Given the description of an element on the screen output the (x, y) to click on. 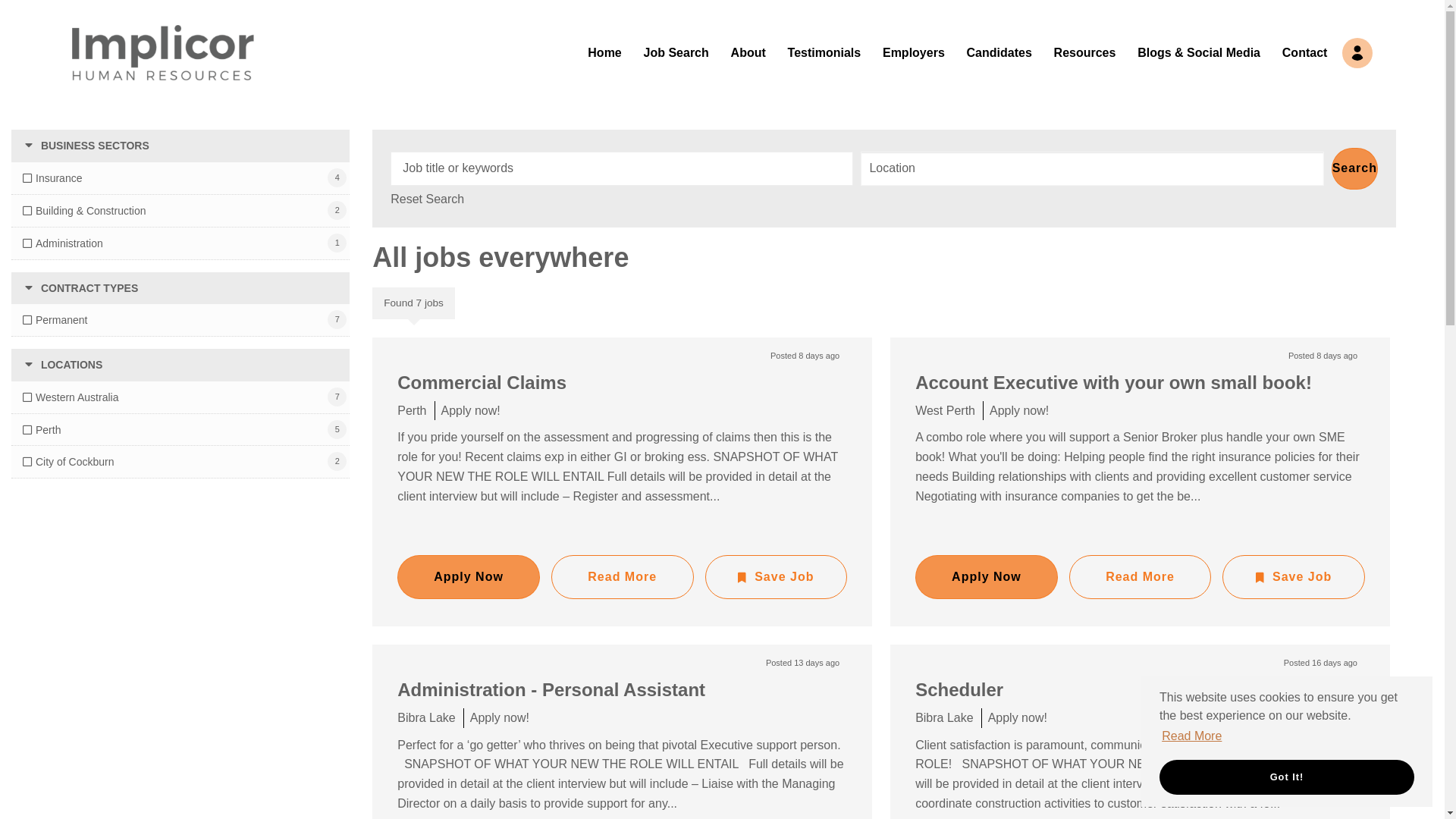
Testimonials Element type: text (824, 52)
Read More Element type: text (1191, 735)
Read More Element type: text (1140, 577)
Administration - Personal Assistant Element type: text (551, 689)
Save Job Element type: text (1293, 577)
Western Australia
7 Element type: text (70, 397)
Building & Construction
2 Element type: text (84, 210)
City of Cockburn
2 Element type: text (67, 461)
Candidates Element type: text (999, 52)
Insurance
4 Element type: text (51, 178)
Employers Element type: text (913, 52)
Resources Element type: text (1085, 52)
Contact Element type: text (1304, 52)
Apply Now Element type: text (986, 577)
Blogs & Social Media Element type: text (1198, 52)
Save Job Element type: text (776, 577)
Administration
1 Element type: text (62, 243)
Account Executive with your own small book! Element type: text (1113, 382)
Perth
5 Element type: text (41, 429)
Job Search Element type: text (676, 52)
Scheduler Element type: text (959, 689)
Commercial Claims Element type: text (481, 382)
Reset Search Element type: text (427, 199)
Apply Now Element type: text (468, 577)
Permanent
7 Element type: text (54, 319)
Home Element type: text (604, 52)
Read More Element type: text (622, 577)
About Element type: text (748, 52)
Got It! Element type: text (1286, 776)
Search Element type: text (1354, 167)
